Given the description of an element on the screen output the (x, y) to click on. 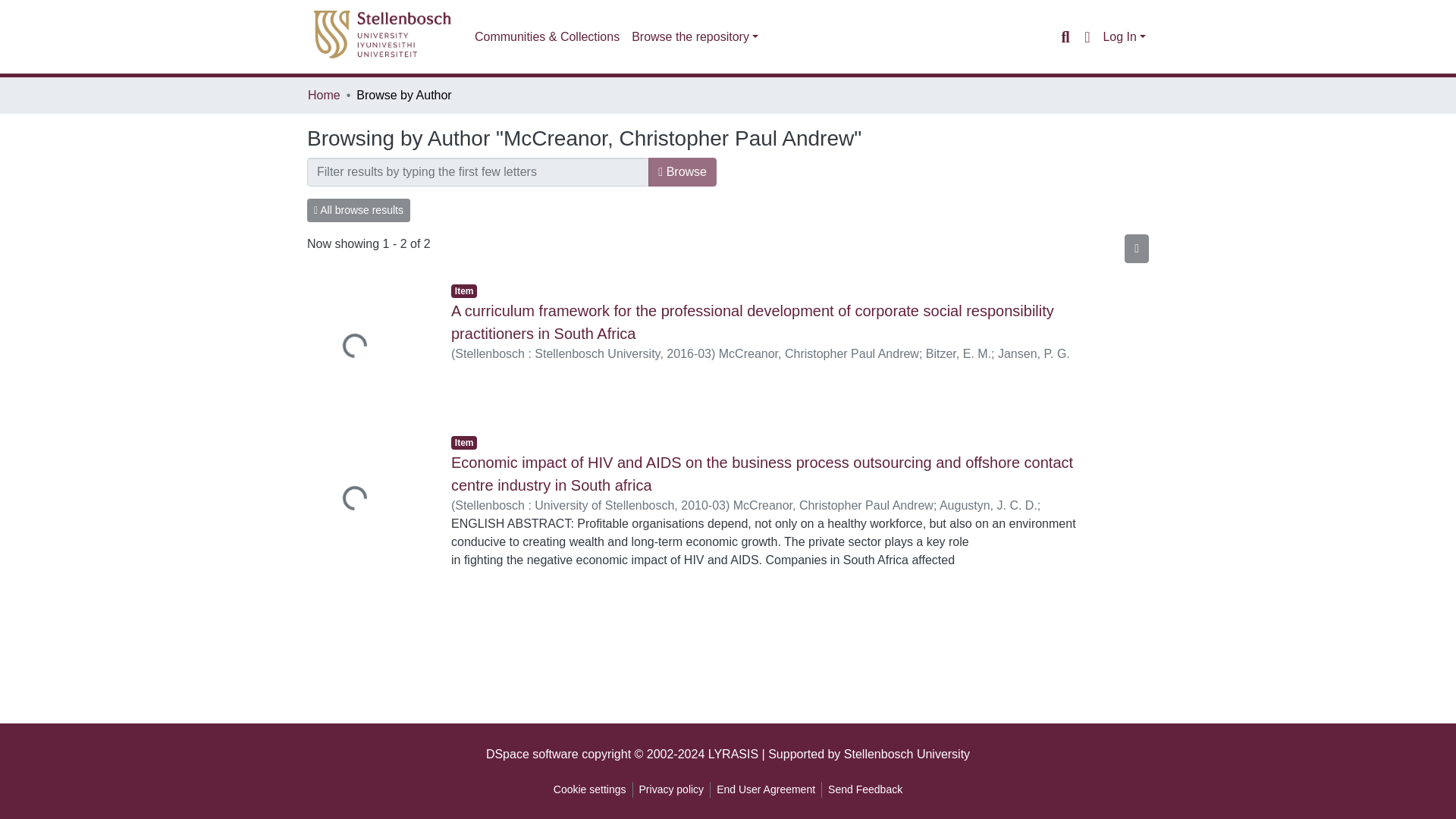
Browse (681, 172)
Browse the repository (695, 37)
Loading... (367, 348)
LYRASIS (732, 753)
DSpace software (532, 753)
Loading... (367, 500)
Log In (1123, 36)
Home (323, 95)
